Given the description of an element on the screen output the (x, y) to click on. 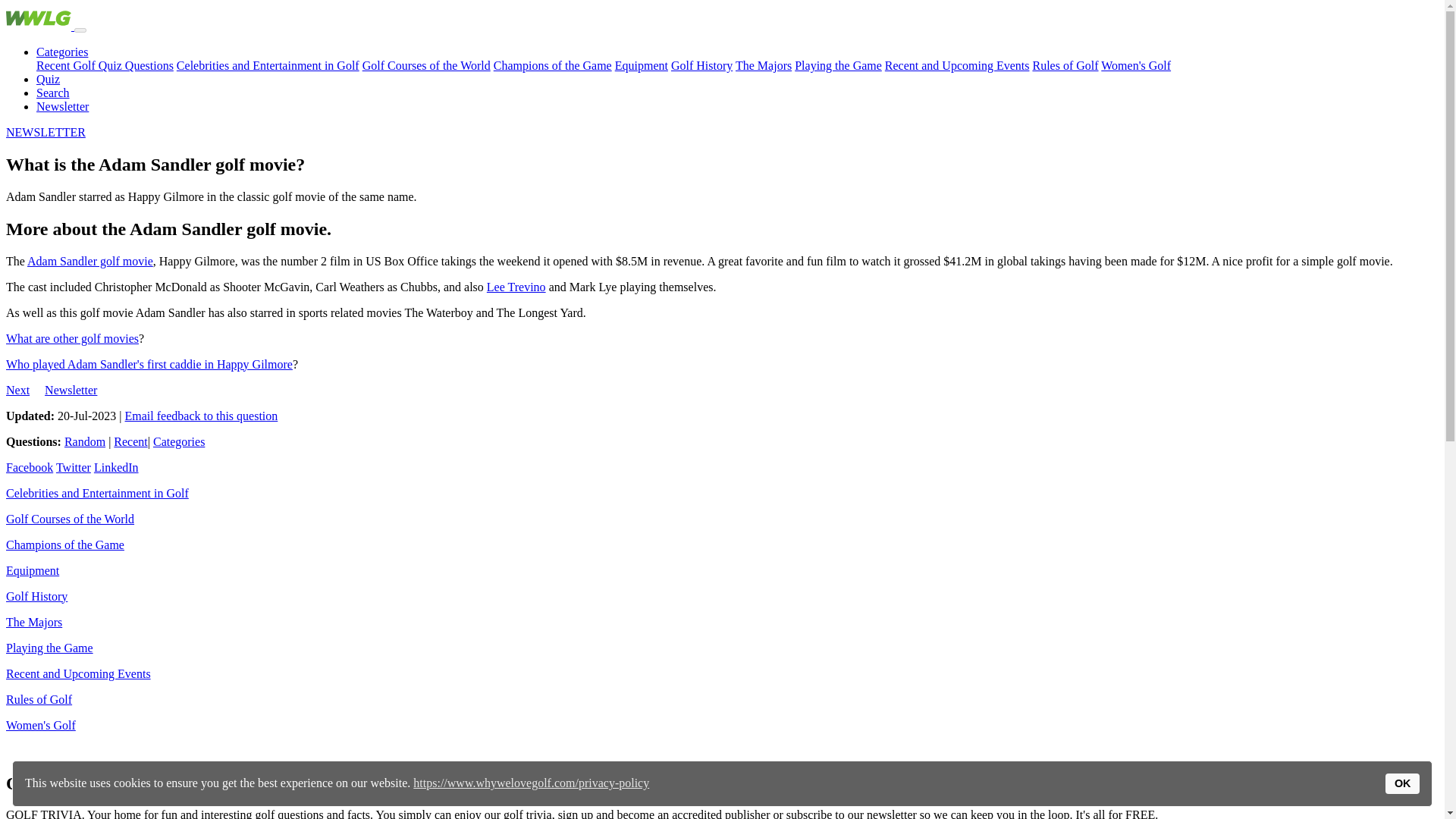
Golf Courses of the World (426, 65)
Champions of the Game (552, 65)
The Majors (33, 621)
Equipment (641, 65)
Random (84, 440)
Lee Trevino (516, 286)
Facebook (28, 467)
NEWSLETTER (45, 132)
Recent (130, 440)
Who played Adam Sandler's first caddie in Happy Gilmore (148, 364)
The Majors (763, 65)
Golf History (35, 595)
Golf Courses of the World (69, 518)
Adam Sandler golf movie (89, 260)
Twitter (73, 467)
